Given the description of an element on the screen output the (x, y) to click on. 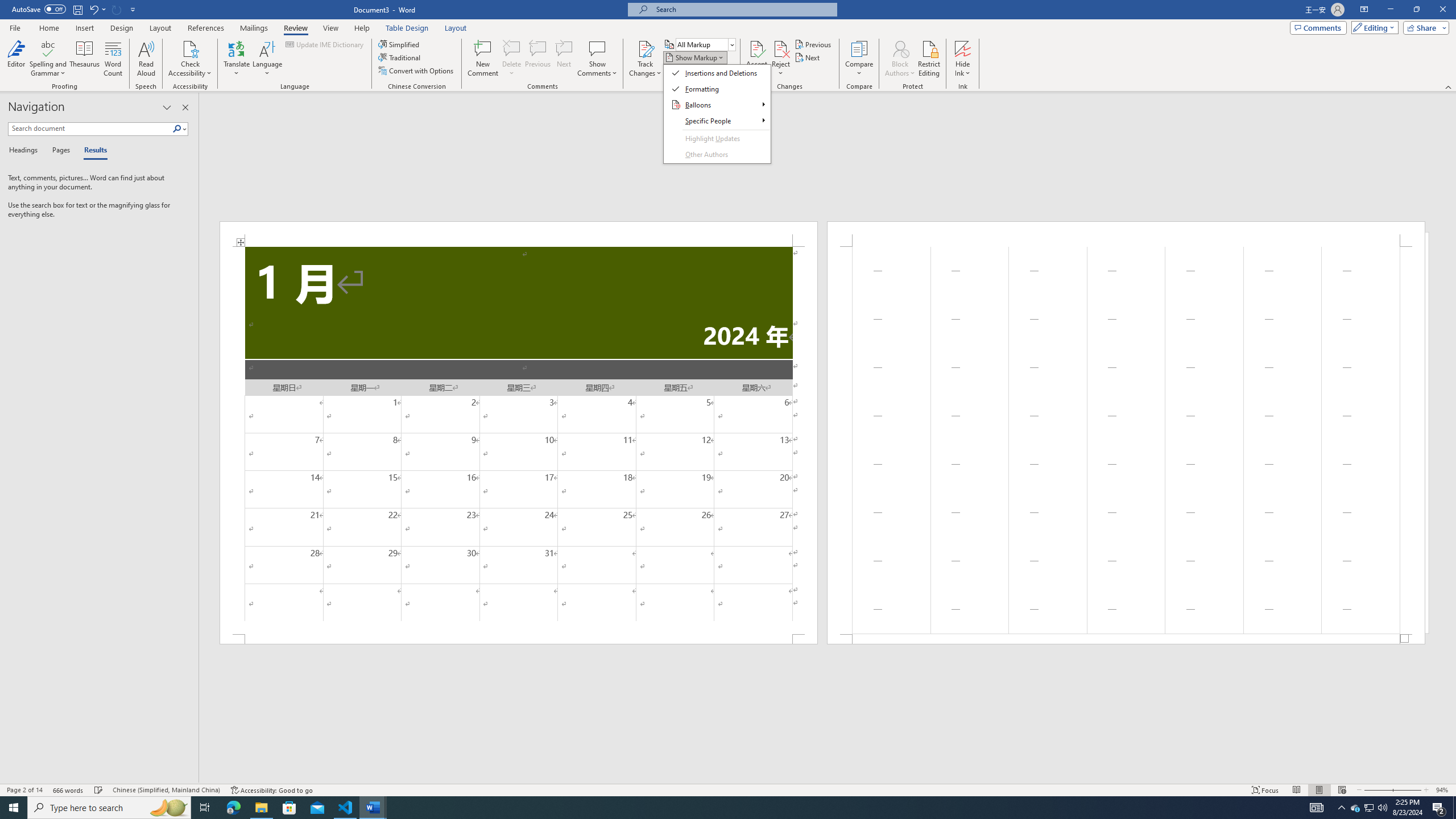
Word Count (113, 58)
Traditional (400, 56)
Track Changes (644, 58)
Next (808, 56)
